Given the description of an element on the screen output the (x, y) to click on. 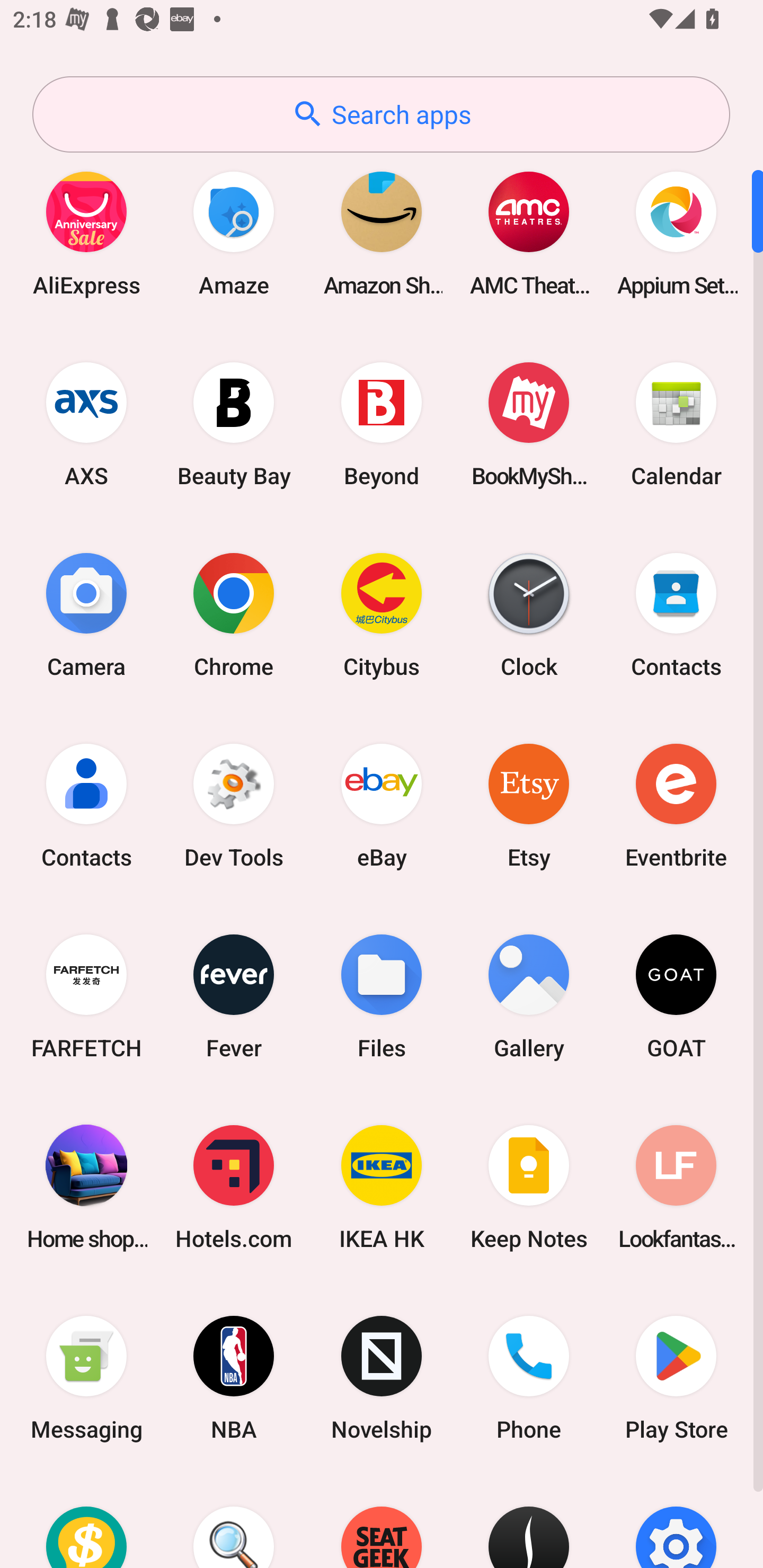
  Search apps (381, 114)
AliExpress (86, 233)
Amaze (233, 233)
Amazon Shopping (381, 233)
AMC Theatres (528, 233)
Appium Settings (676, 233)
AXS (86, 424)
Beauty Bay (233, 424)
Beyond (381, 424)
BookMyShow (528, 424)
Calendar (676, 424)
Camera (86, 614)
Chrome (233, 614)
Citybus (381, 614)
Clock (528, 614)
Contacts (676, 614)
Contacts (86, 805)
Dev Tools (233, 805)
eBay (381, 805)
Etsy (528, 805)
Eventbrite (676, 805)
FARFETCH (86, 996)
Fever (233, 996)
Files (381, 996)
Gallery (528, 996)
GOAT (676, 996)
Home shopping (86, 1186)
Hotels.com (233, 1186)
IKEA HK (381, 1186)
Keep Notes (528, 1186)
Lookfantastic (676, 1186)
Messaging (86, 1377)
NBA (233, 1377)
Novelship (381, 1377)
Phone (528, 1377)
Play Store (676, 1377)
